Given the description of an element on the screen output the (x, y) to click on. 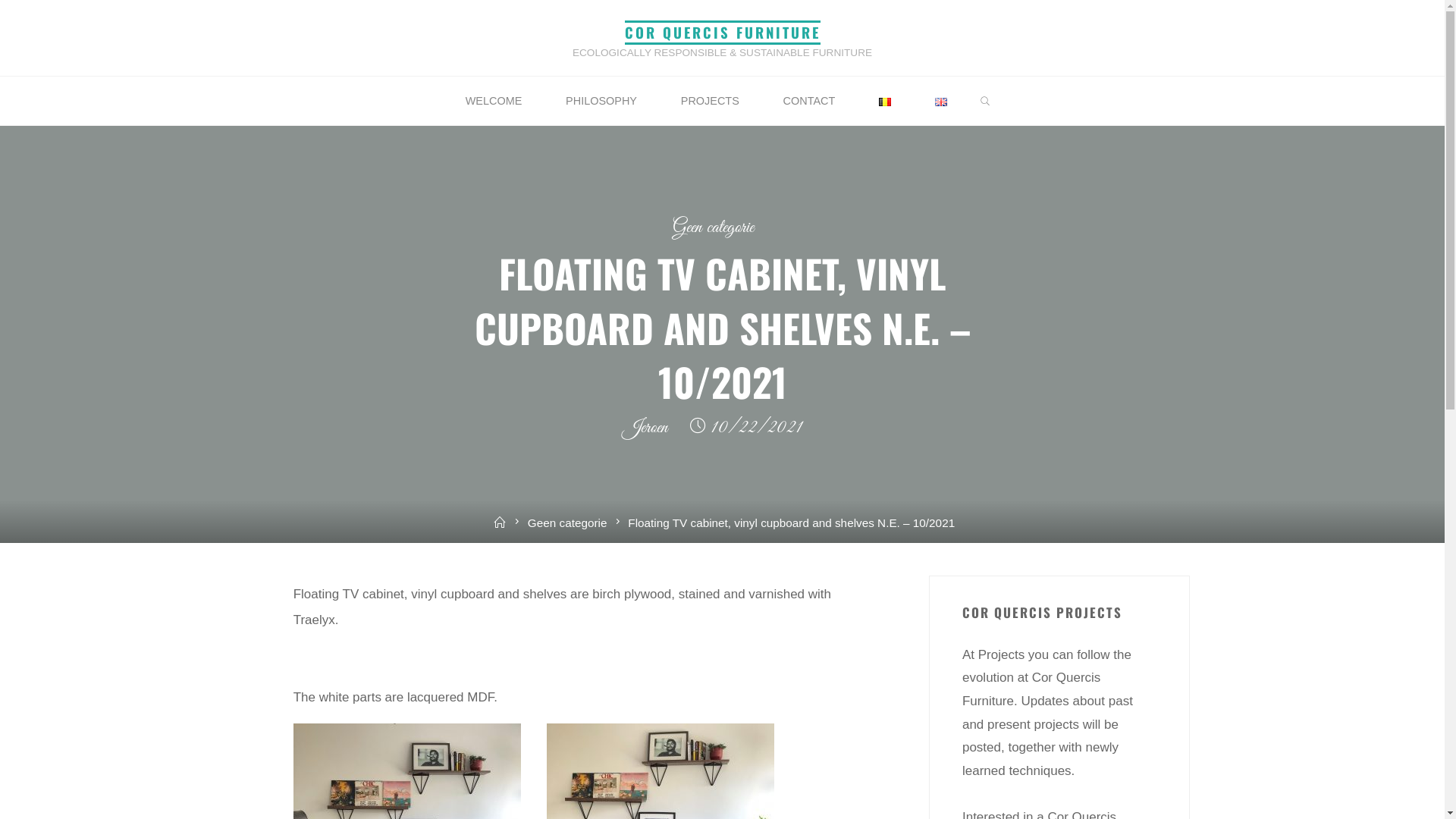
SEARCH Element type: text (985, 101)
Date Element type: hover (698, 428)
Jeroen Element type: text (644, 428)
Home Element type: text (499, 522)
Geen categorie Element type: text (567, 522)
Geen categorie Element type: text (712, 228)
COR QUERCIS FURNITURE Element type: text (722, 31)
PHILOSOPHY Element type: text (600, 100)
CONTACT Element type: text (809, 100)
PROJECTS Element type: text (709, 100)
WELCOME Element type: text (493, 100)
